Given the description of an element on the screen output the (x, y) to click on. 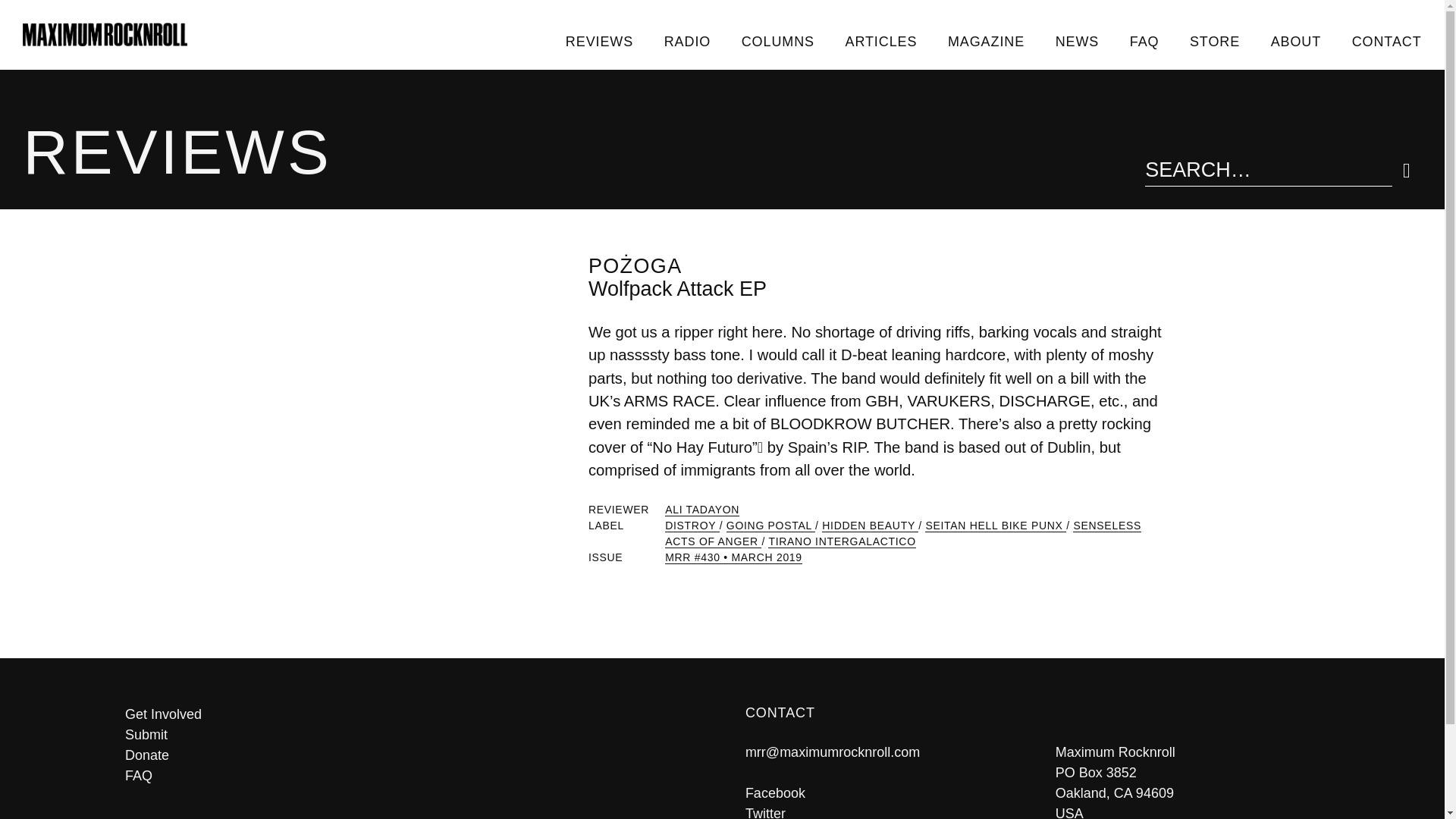
STORE (1214, 41)
ARTICLES (880, 41)
FAQ (411, 775)
COLUMNS (777, 41)
ABOUT (1295, 41)
DISTROY (692, 525)
NEWS (1076, 41)
Donate (411, 755)
Facebook (775, 792)
MAGAZINE (987, 41)
